Given the description of an element on the screen output the (x, y) to click on. 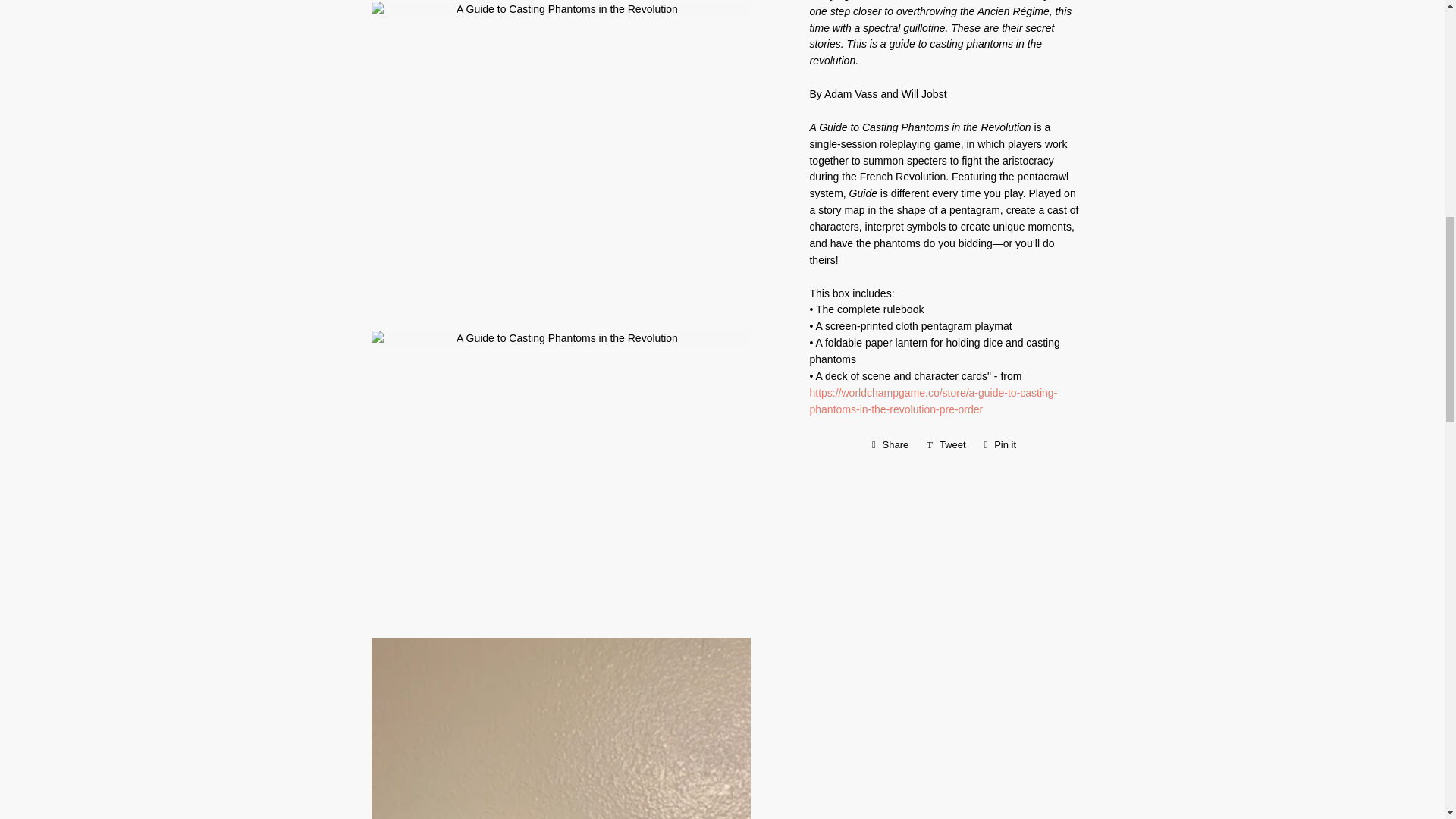
Pin on Pinterest (1000, 445)
Tweet on Twitter (946, 445)
World Champ Game Co (933, 400)
Share on Facebook (889, 445)
